Given the description of an element on the screen output the (x, y) to click on. 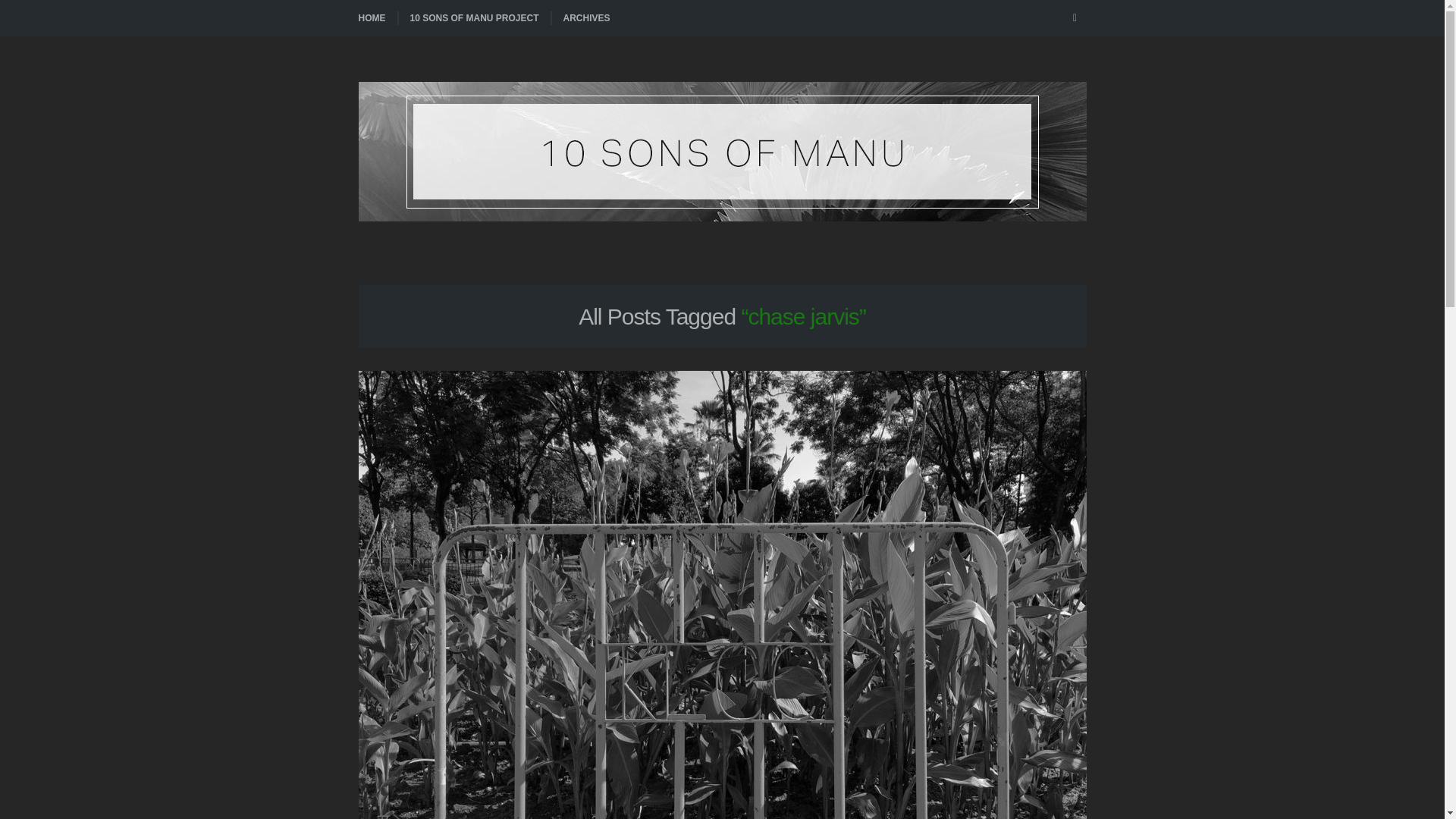
HOME (377, 18)
ARCHIVES (585, 18)
10 SONS OF MANU PROJECT (473, 18)
